Given the description of an element on the screen output the (x, y) to click on. 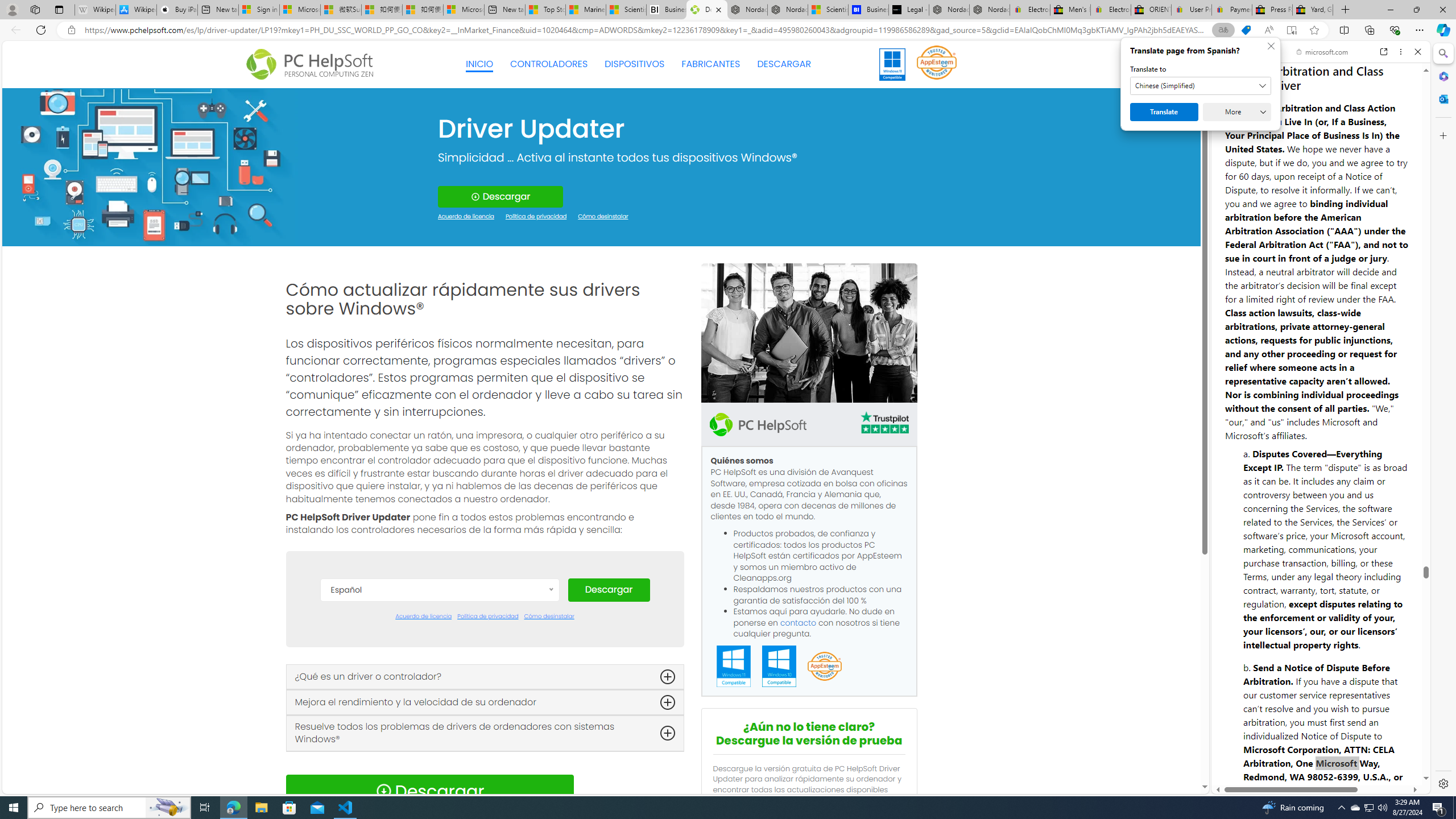
Top Stories - MSN (544, 9)
INICIO (479, 64)
Payments Terms of Use | eBay.com (1231, 9)
microsoft.com (1323, 51)
DESCARGAR (783, 64)
Generic (150, 166)
PCHelpsoft (757, 423)
